Given the description of an element on the screen output the (x, y) to click on. 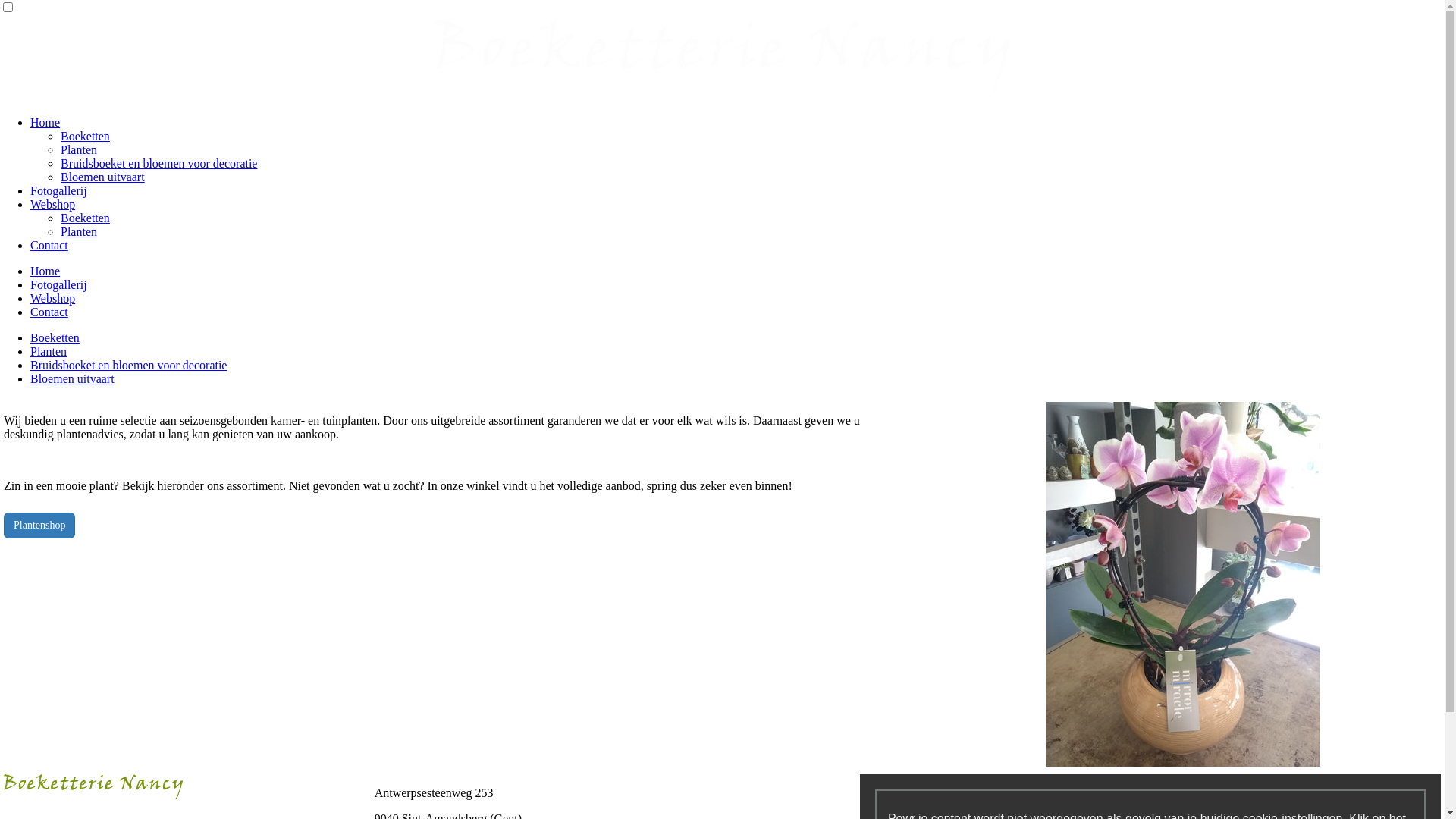
Bruidsboeket en bloemen voor decoratie Element type: text (128, 364)
Plantenshop Element type: text (39, 525)
Fotogallerij Element type: text (58, 284)
Bloemen uitvaart Element type: text (102, 176)
Boeketten Element type: text (84, 135)
Contact Element type: text (49, 311)
Home Element type: text (44, 270)
Boeketten Element type: text (84, 217)
Planten Element type: text (78, 231)
Home Element type: text (44, 122)
Fotogallerij Element type: text (58, 190)
Contact Element type: text (49, 244)
Bruidsboeket en bloemen voor decoratie Element type: text (158, 162)
Planten Element type: text (78, 149)
Bloemen uitvaart Element type: text (72, 378)
Webshop Element type: text (52, 203)
Planten Element type: text (48, 351)
Webshop Element type: text (52, 297)
Boeketten Element type: text (54, 337)
